Given the description of an element on the screen output the (x, y) to click on. 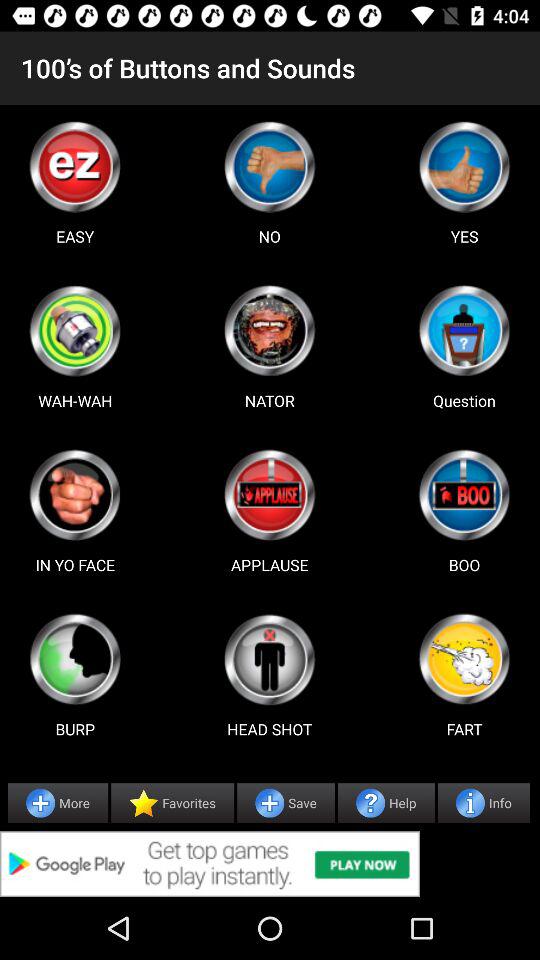
head shot sound (269, 659)
